Given the description of an element on the screen output the (x, y) to click on. 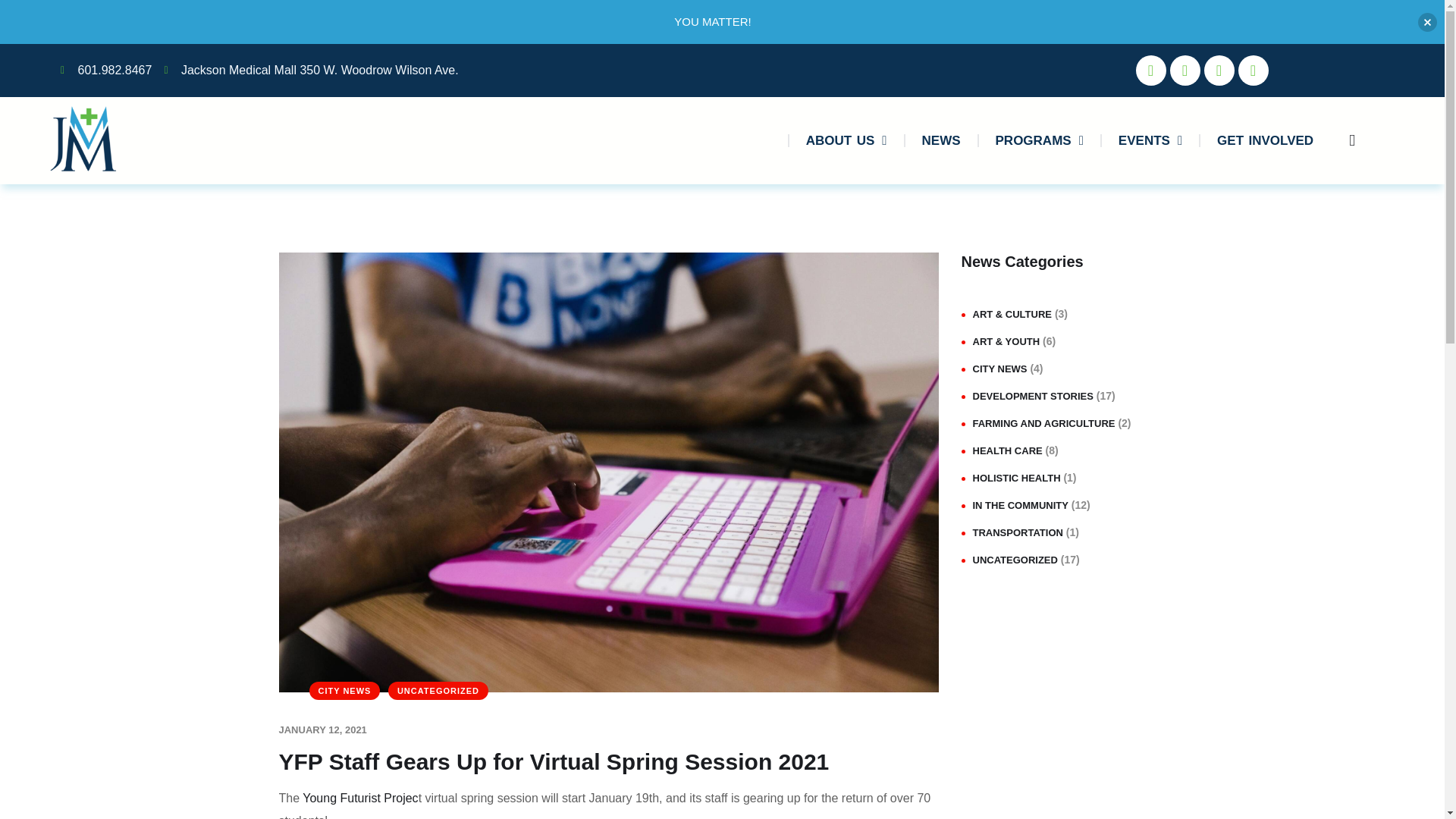
EVENTS (1149, 140)
ABOUT US (846, 140)
NEWS (941, 140)
GET INVOLVED (1264, 140)
PROGRAMS (1039, 140)
601.982.8467 (106, 69)
